Given the description of an element on the screen output the (x, y) to click on. 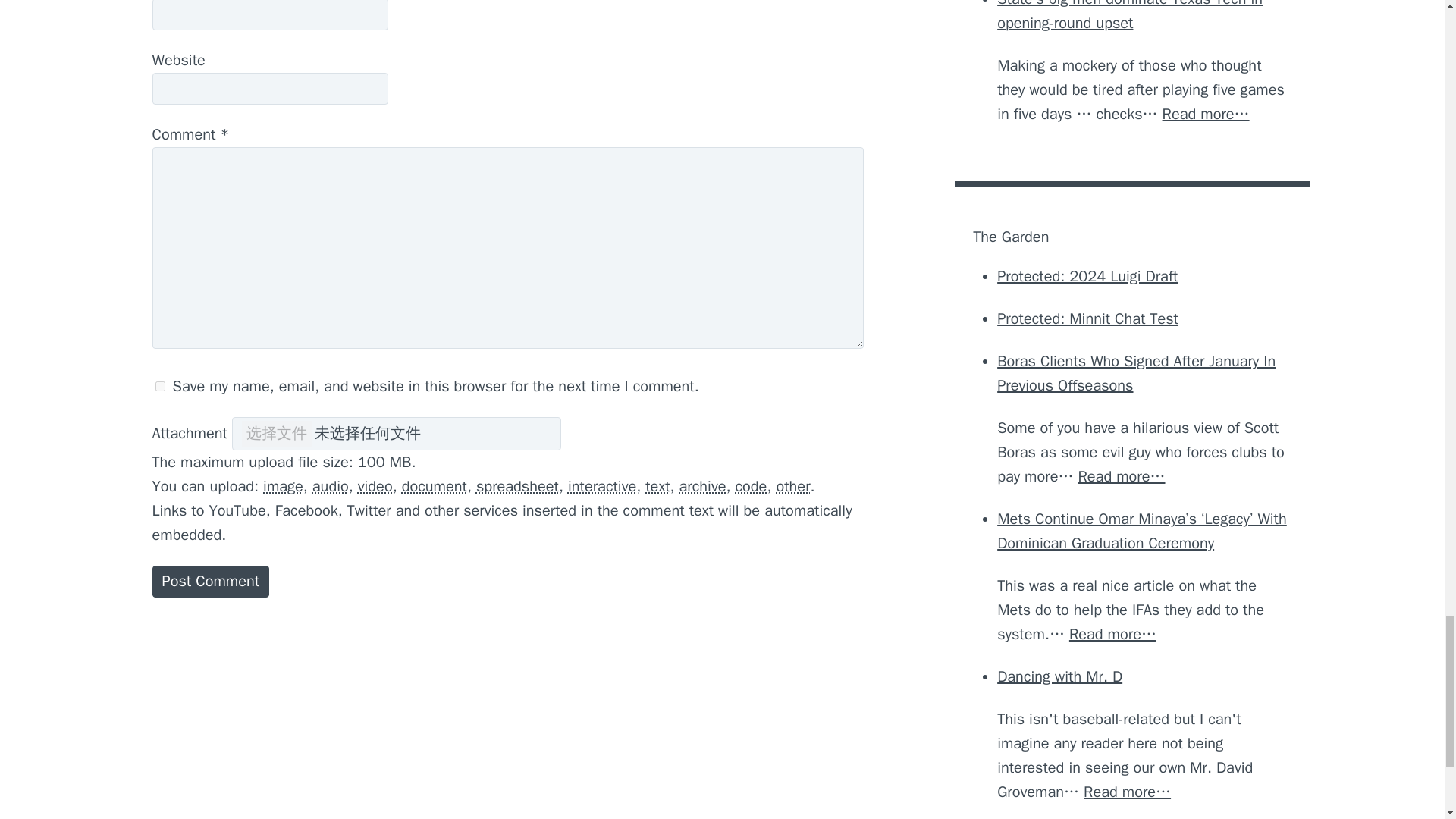
txt, asc, csv, tsv (657, 486)
Post Comment (210, 581)
yes (159, 386)
pps, ppt, pptx, pptm, ppsx, ppsm, sldx, sldm, odp, key (601, 486)
mp3, m4a, m4b, aac, ram, wav, ogg, oga, flac, wma, mka (331, 486)
tar, zip, gz, rar, 7z (702, 486)
xls, xlsx, xlsm, xlsb, ods, numbers (517, 486)
jpg, jpeg, jpe, gif, png, bmp, tiff, tif, webp, ico, heic (282, 486)
